Given the description of an element on the screen output the (x, y) to click on. 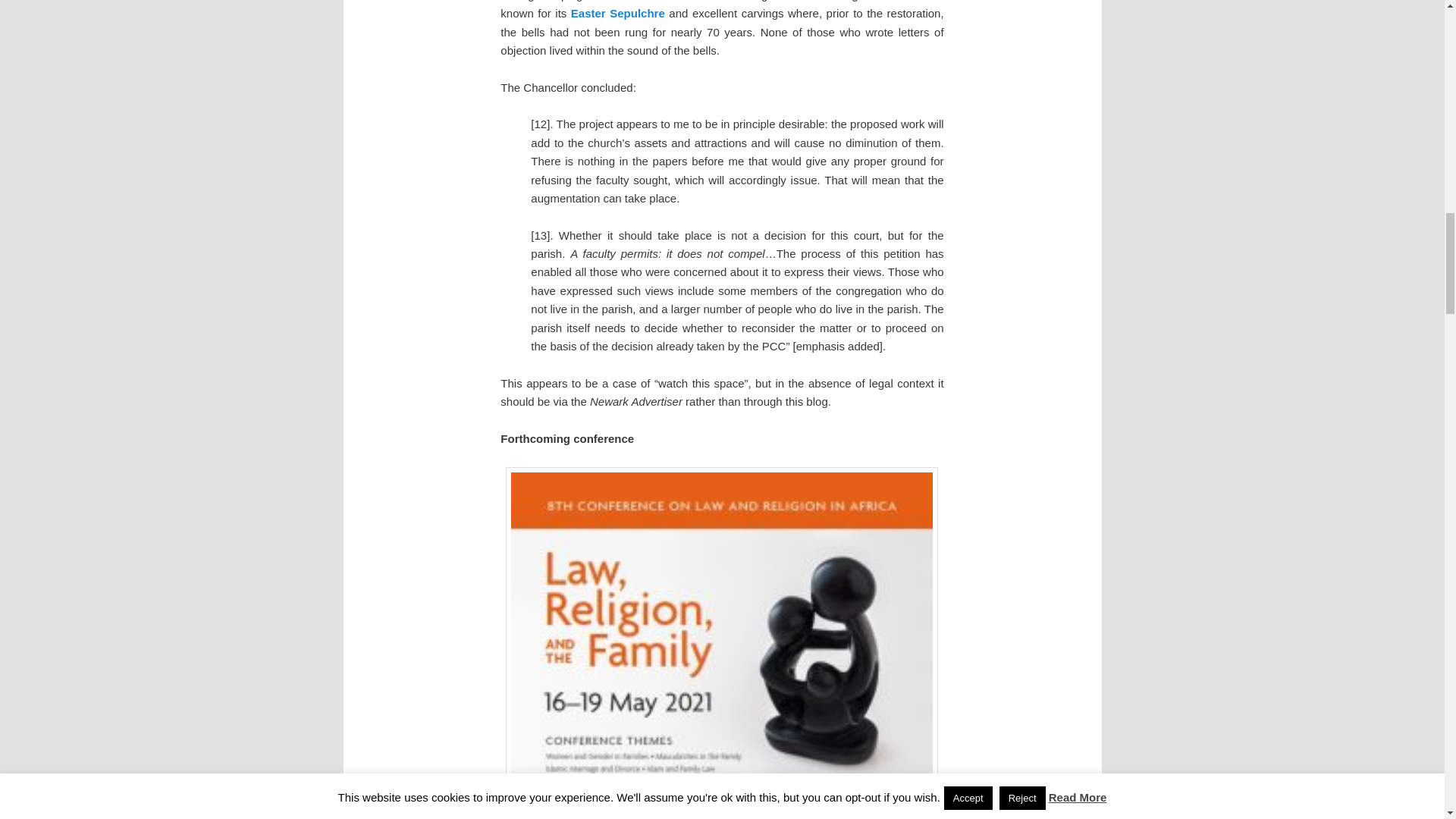
Easter Sepulchre (617, 12)
